Given the description of an element on the screen output the (x, y) to click on. 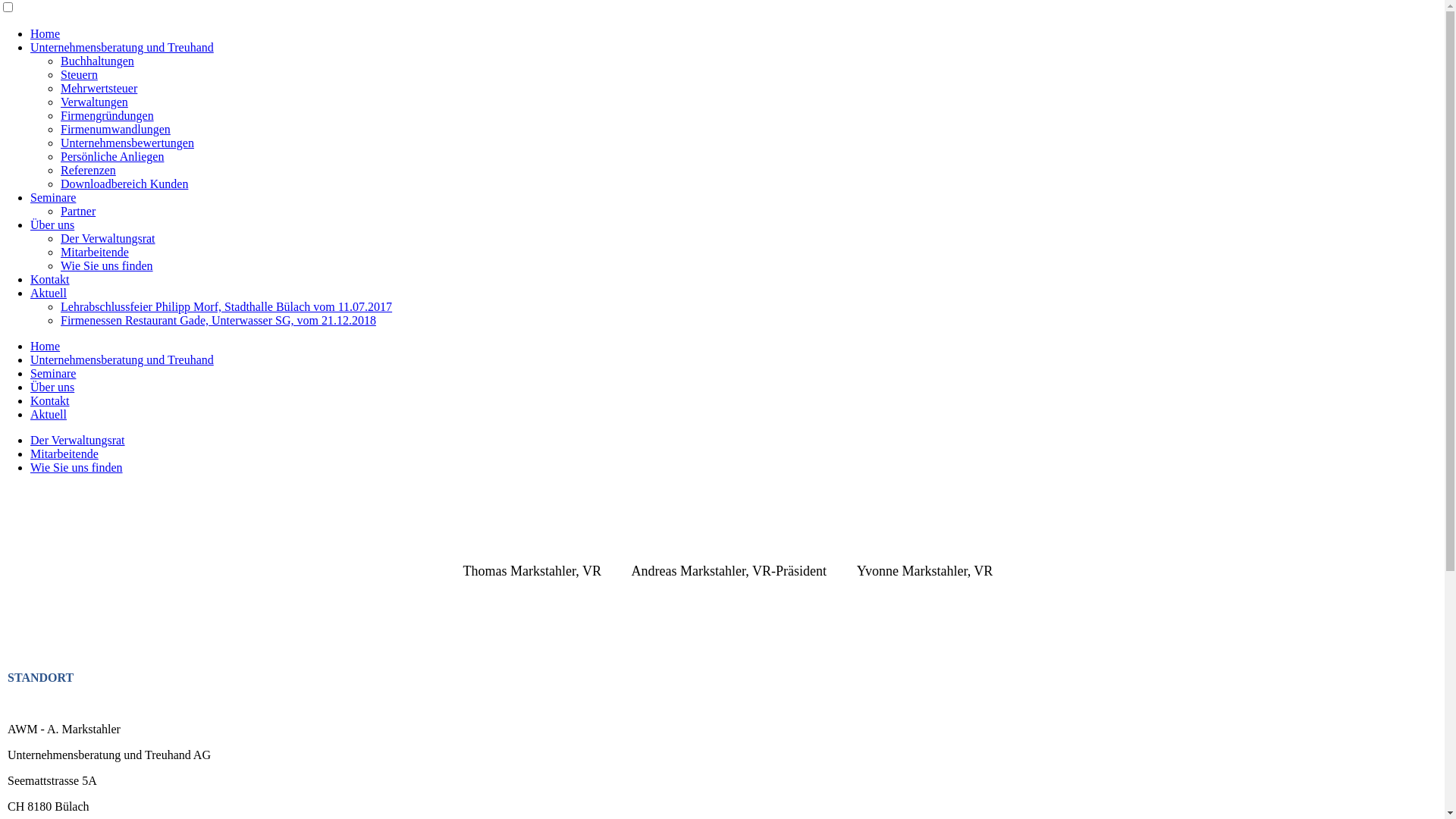
Seminare Element type: text (52, 373)
Seminare Element type: text (52, 197)
Referenzen Element type: text (88, 169)
Mehrwertsteuer Element type: text (98, 87)
Downloadbereich Kunden Element type: text (124, 183)
Partner Element type: text (77, 210)
Verwaltungen Element type: text (94, 101)
Aktuell Element type: text (48, 292)
Kontakt Element type: text (49, 279)
Firmenessen Restaurant Gade, Unterwasser SG, vom 21.12.2018 Element type: text (218, 319)
Der Verwaltungsrat Element type: text (107, 238)
Wie Sie uns finden Element type: text (106, 265)
Mitarbeitende Element type: text (64, 453)
Unternehmensbewertungen Element type: text (127, 142)
Home Element type: text (44, 345)
Firmenumwandlungen Element type: text (115, 128)
Steuern Element type: text (78, 74)
Unternehmensberatung und Treuhand Element type: text (121, 359)
Home Element type: text (44, 33)
Wie Sie uns finden Element type: text (76, 467)
Mitarbeitende Element type: text (94, 251)
Aktuell Element type: text (48, 413)
Buchhaltungen Element type: text (97, 60)
Der Verwaltungsrat Element type: text (77, 439)
Unternehmensberatung und Treuhand Element type: text (121, 46)
Kontakt Element type: text (49, 400)
